Given the description of an element on the screen output the (x, y) to click on. 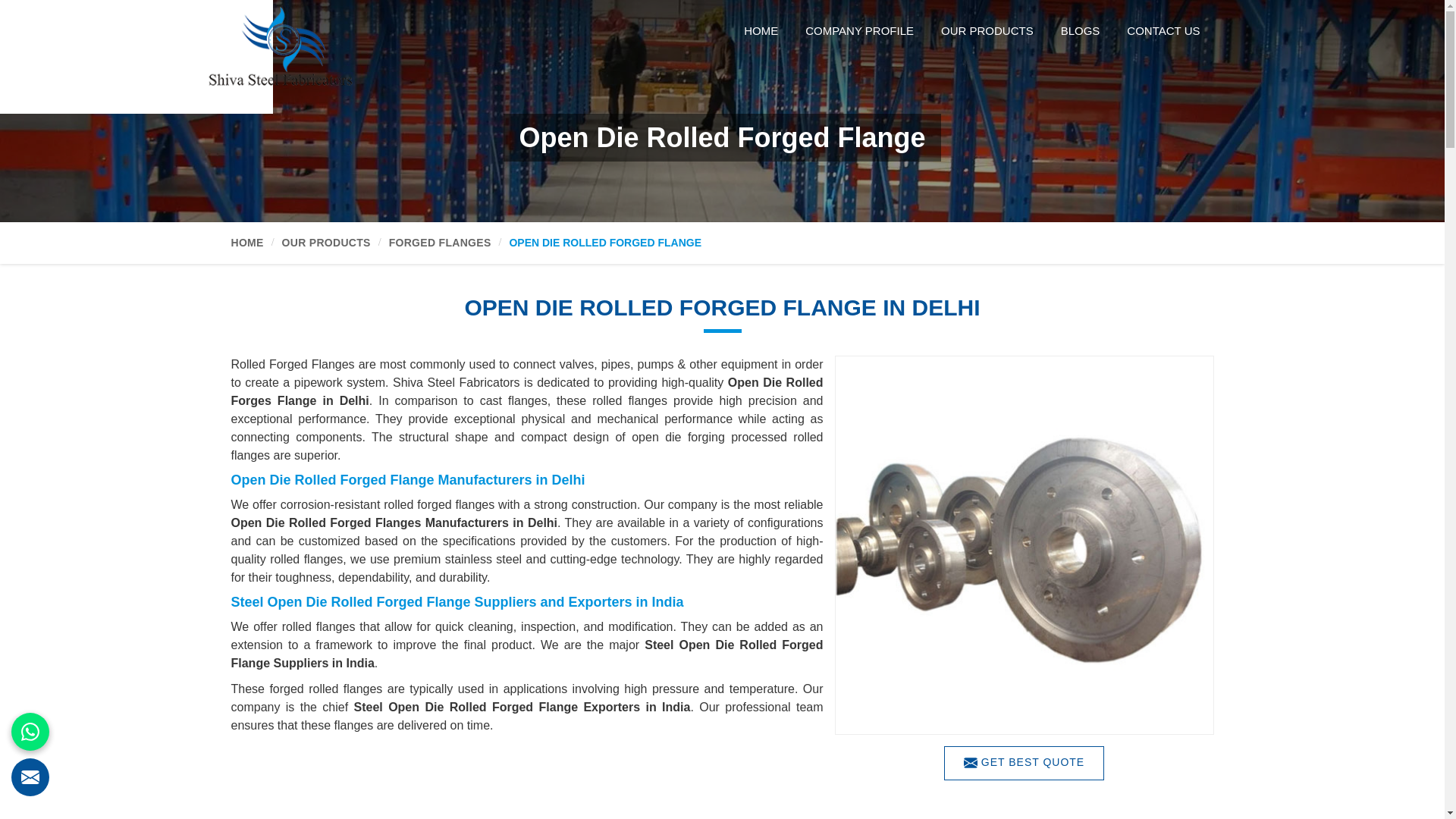
Home (761, 25)
HOME (761, 25)
Shiva Steel Fabricators (304, 39)
Shiva Steel Fabricators (280, 45)
OUR PRODUCTS (986, 25)
Company Profile (859, 25)
Our Products (986, 25)
COMPANY PROFILE (859, 25)
